Given the description of an element on the screen output the (x, y) to click on. 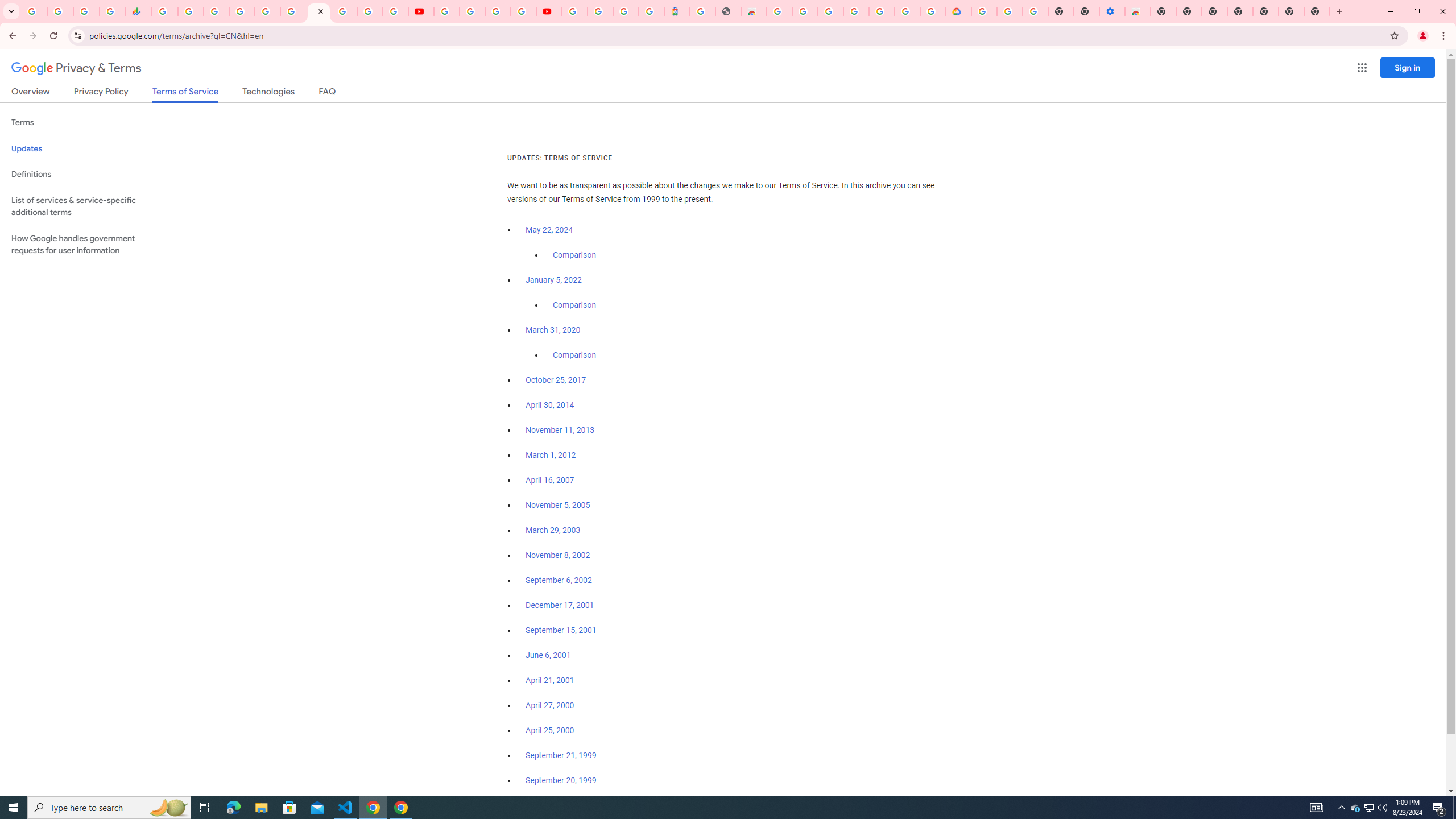
April 27, 2000 (550, 705)
April 30, 2014 (550, 405)
New Tab (1265, 11)
Definitions (86, 174)
May 22, 2024 (549, 230)
November 11, 2013 (560, 430)
April 16, 2007 (550, 480)
September 20, 1999 (560, 780)
